Given the description of an element on the screen output the (x, y) to click on. 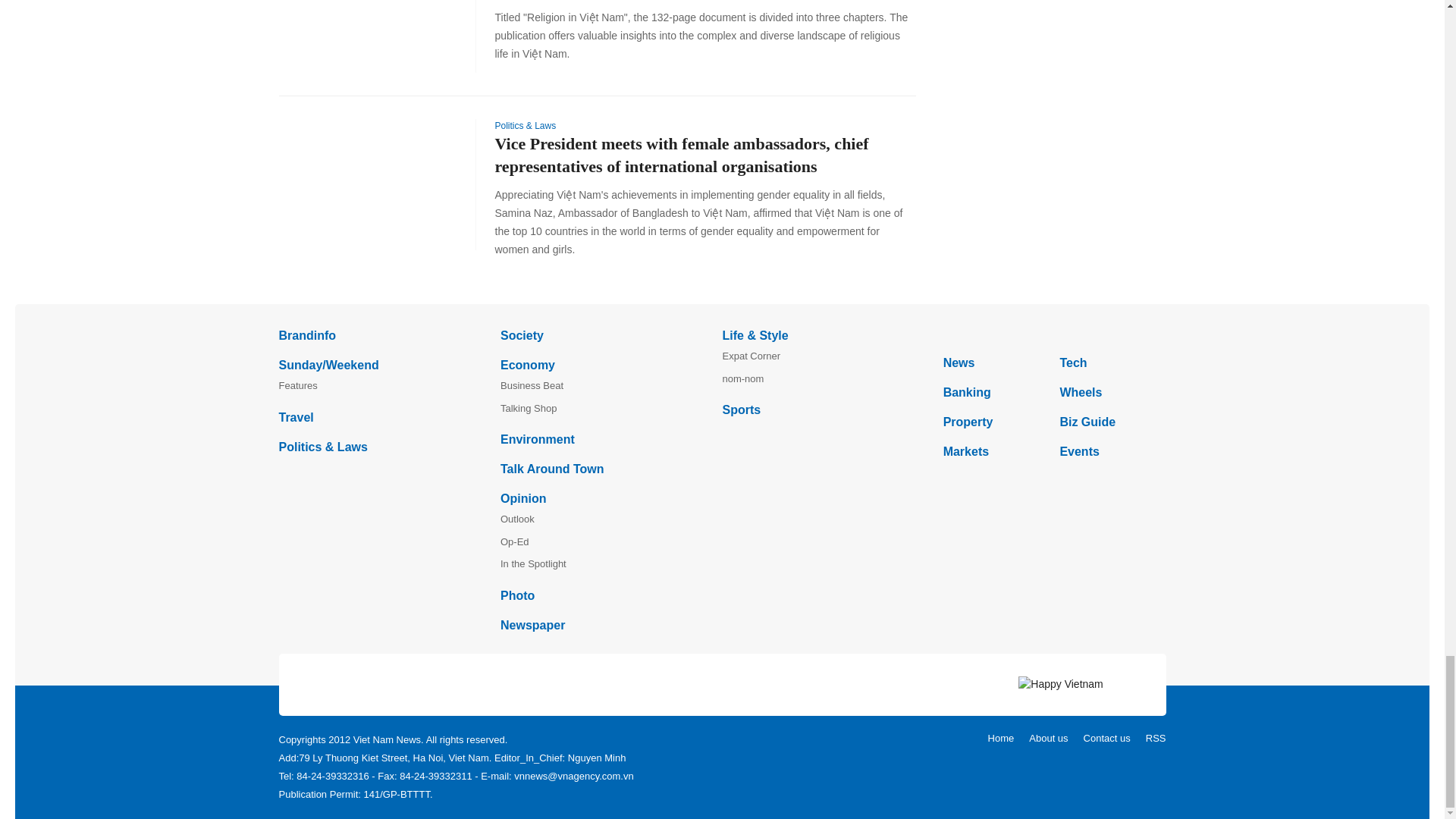
bizhub (1054, 334)
